Given the description of an element on the screen output the (x, y) to click on. 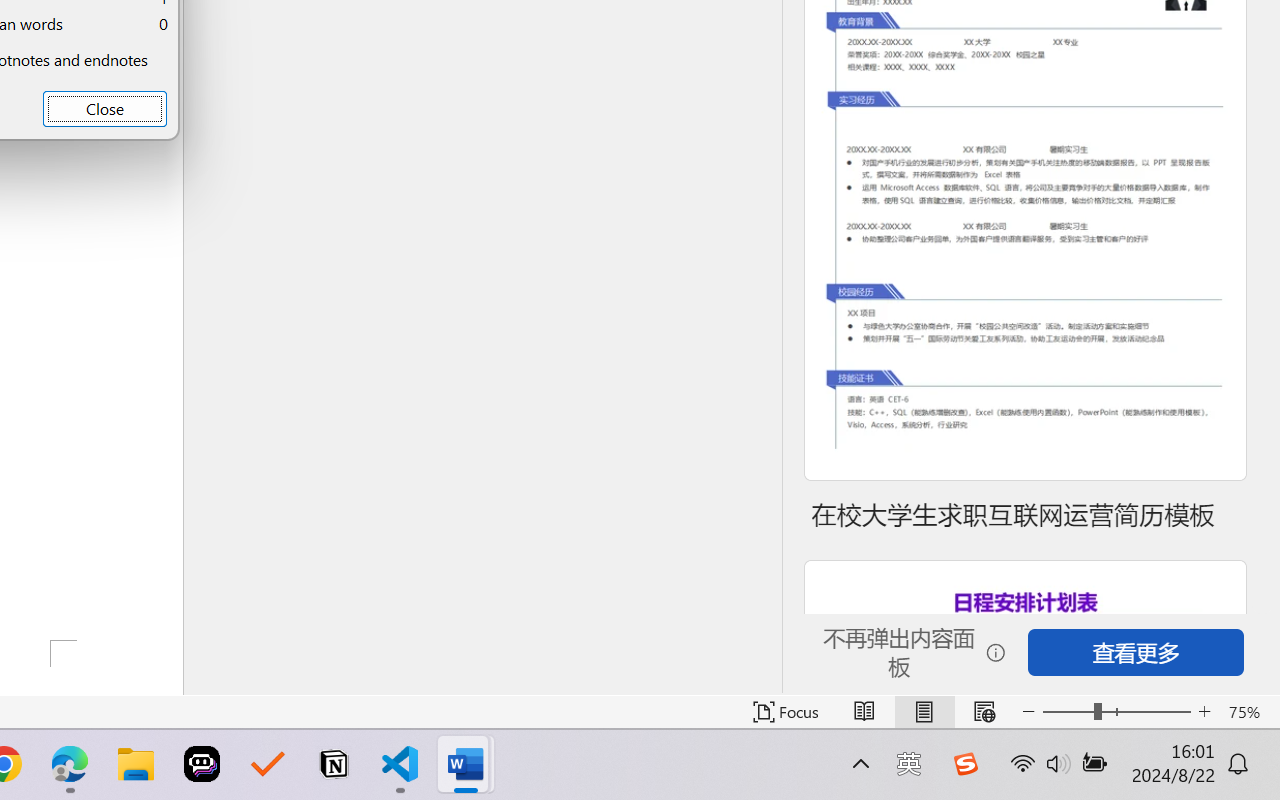
Zoom Out (1067, 712)
Focus  (786, 712)
Print Layout (924, 712)
Zoom In (1204, 712)
Notion (333, 764)
